Given the description of an element on the screen output the (x, y) to click on. 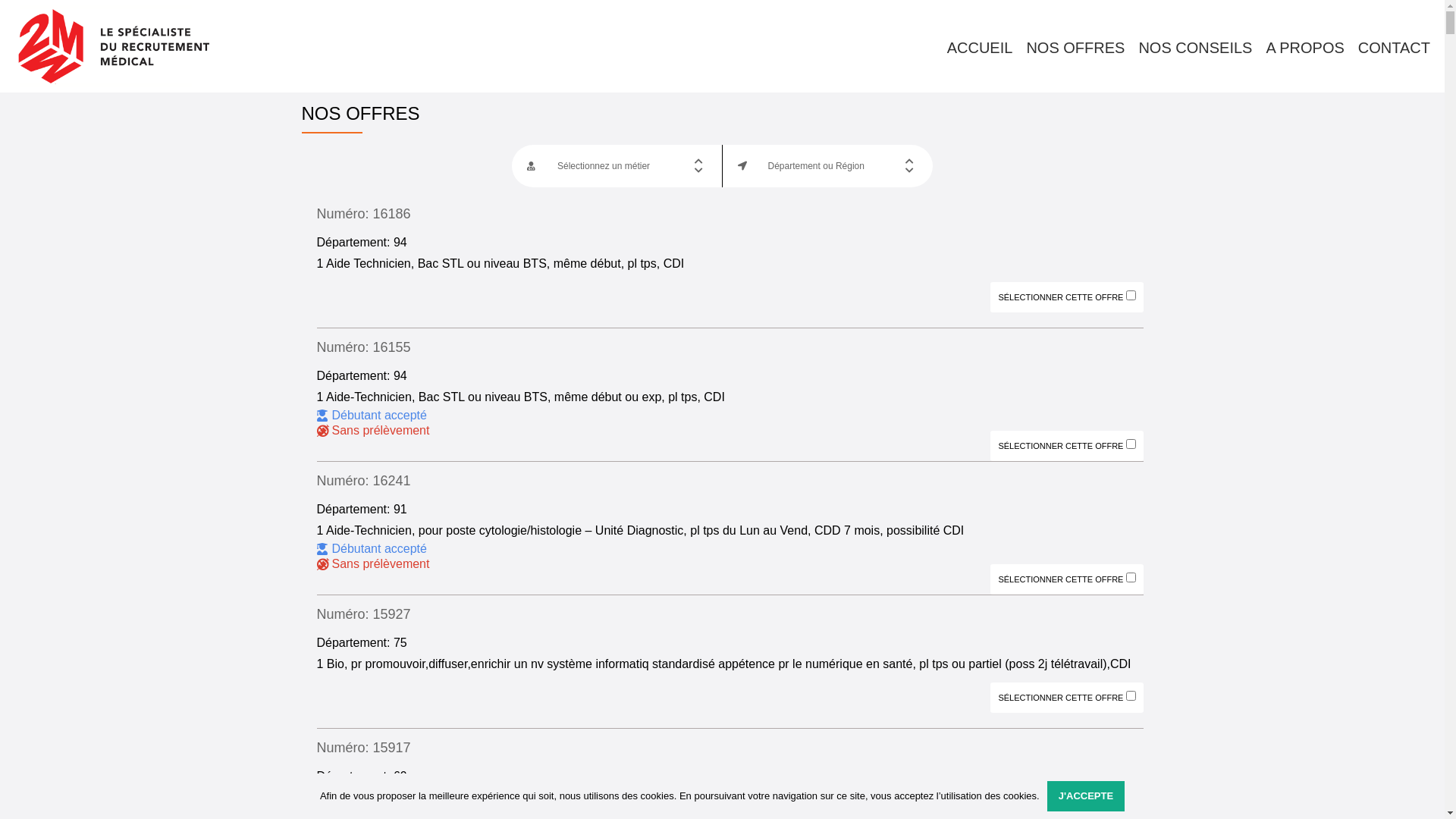
ACCUEIL Element type: text (980, 47)
J'ACCEPTE Element type: text (1085, 796)
NOS OFFRES Element type: text (1075, 47)
Aller au contenu Element type: text (0, 30)
NOS CONSEILS Element type: text (1195, 47)
CONTACT Element type: text (1394, 47)
A PROPOS Element type: text (1304, 47)
